Given the description of an element on the screen output the (x, y) to click on. 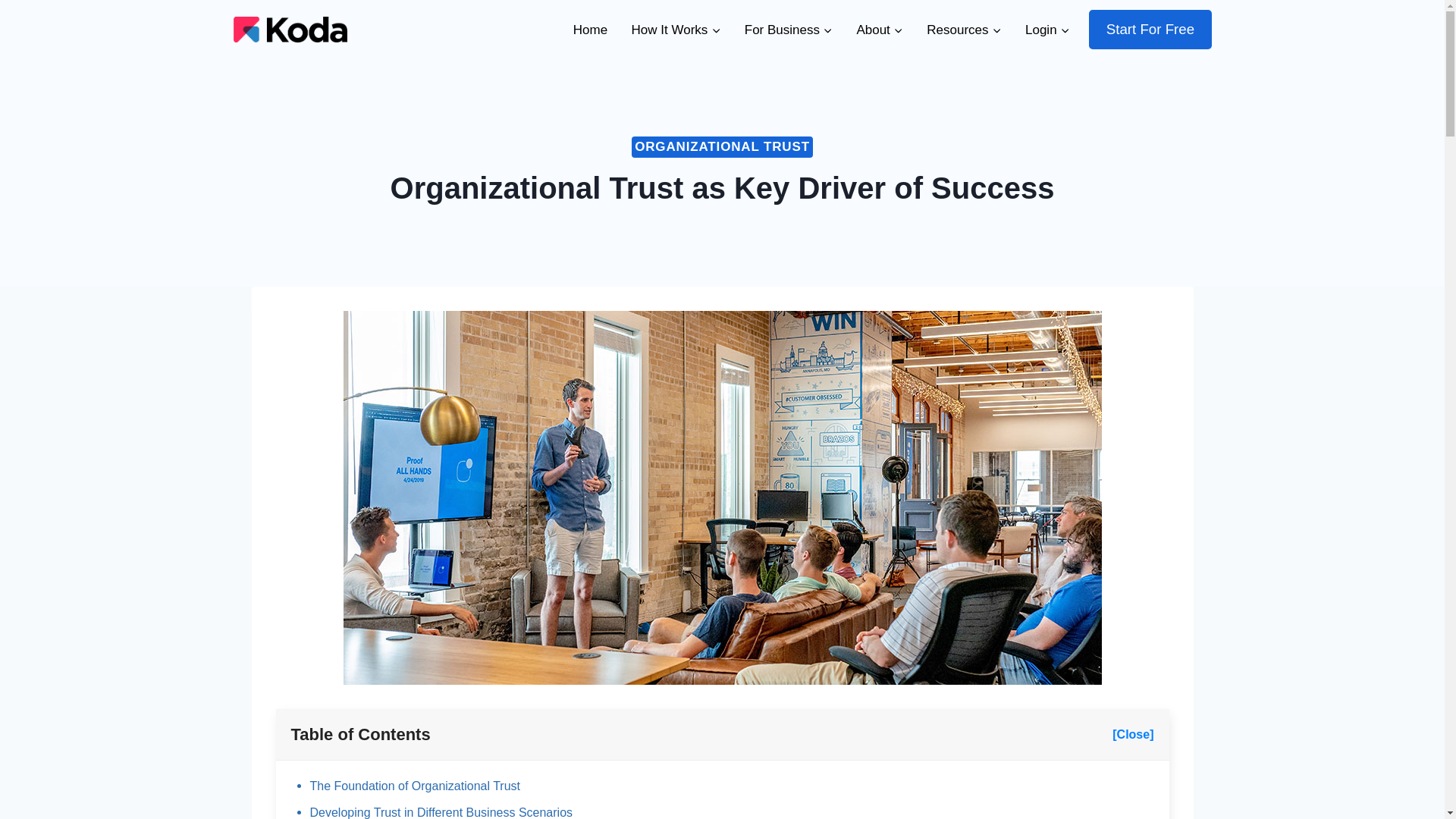
Resources (964, 29)
Developing Trust in Different Business Scenarios (440, 812)
How It Works (676, 29)
Login (1047, 29)
About (879, 29)
Start For Free (1150, 29)
For Business (788, 29)
Home (590, 29)
ORGANIZATIONAL TRUST (721, 147)
The Foundation of Organizational Trust (413, 785)
